Given the description of an element on the screen output the (x, y) to click on. 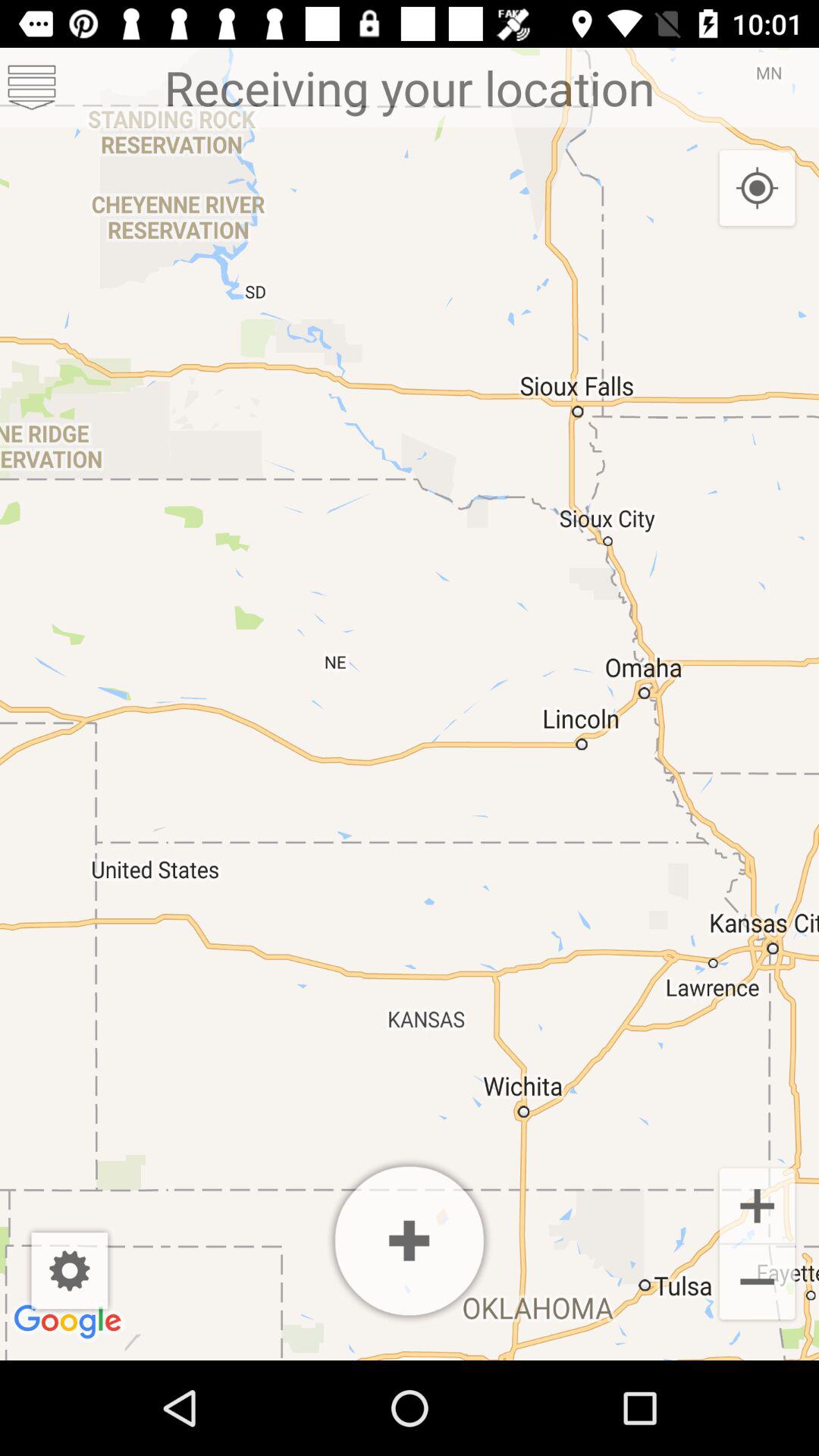
go to settings (69, 1270)
